Given the description of an element on the screen output the (x, y) to click on. 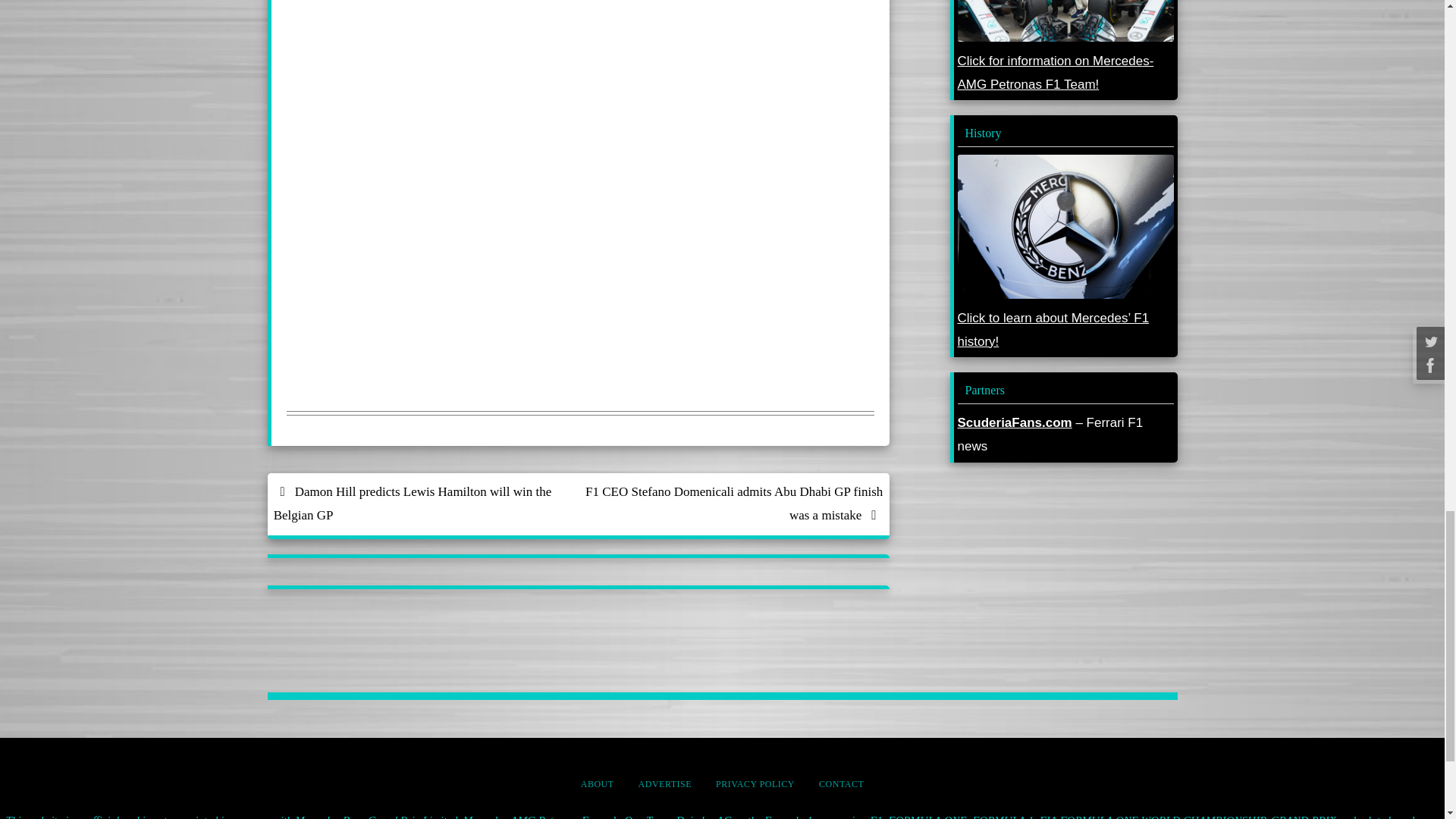
Damon Hill predicts Lewis Hamilton will win the Belgian GP (422, 503)
Vuukle Sharebar Widget (580, 19)
Vuukle Emotes Widget (513, 98)
